Given the description of an element on the screen output the (x, y) to click on. 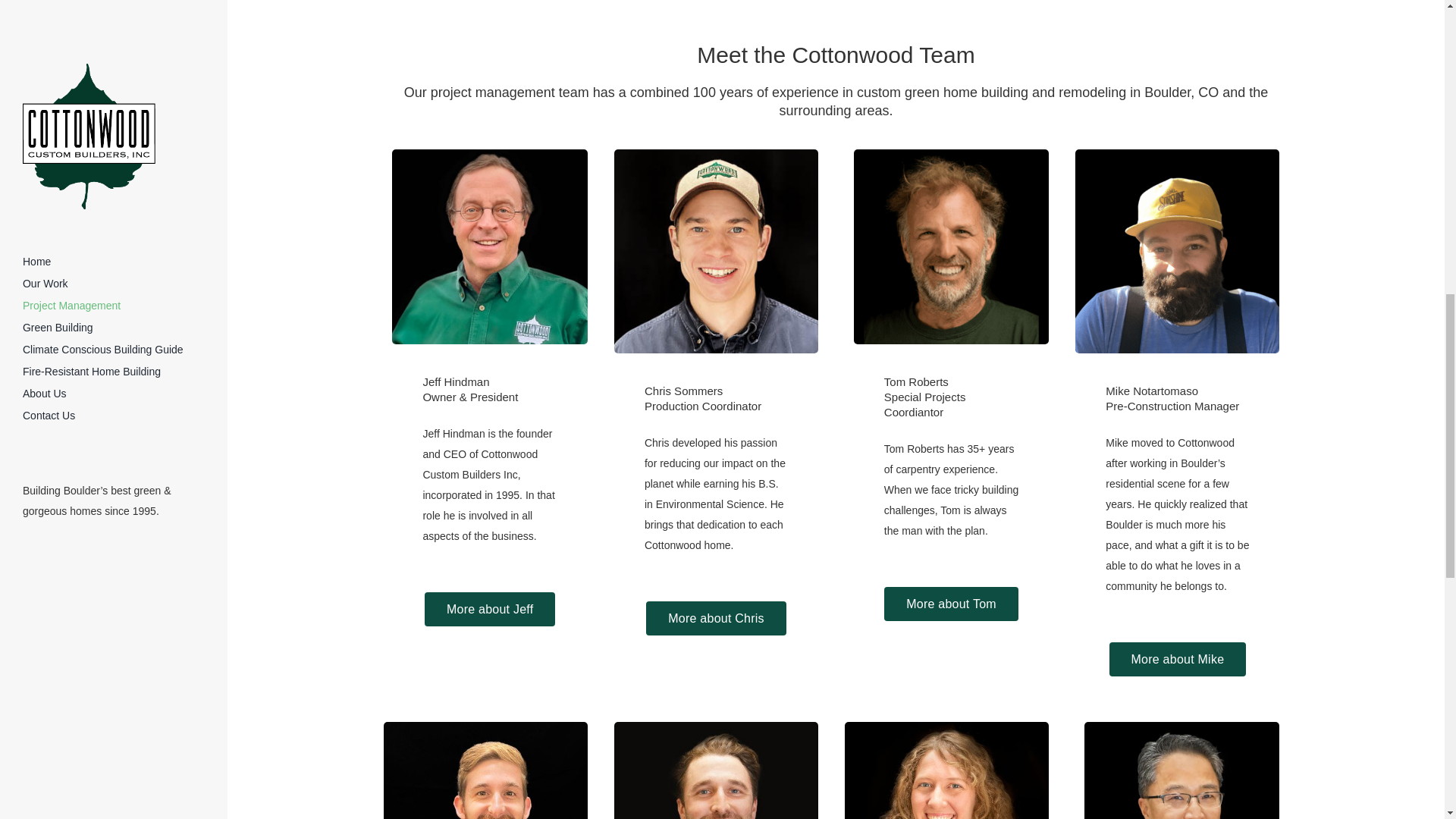
More about Mike (1177, 659)
More about Chris (716, 618)
More about Jeff (489, 609)
More about Tom (950, 603)
